Given the description of an element on the screen output the (x, y) to click on. 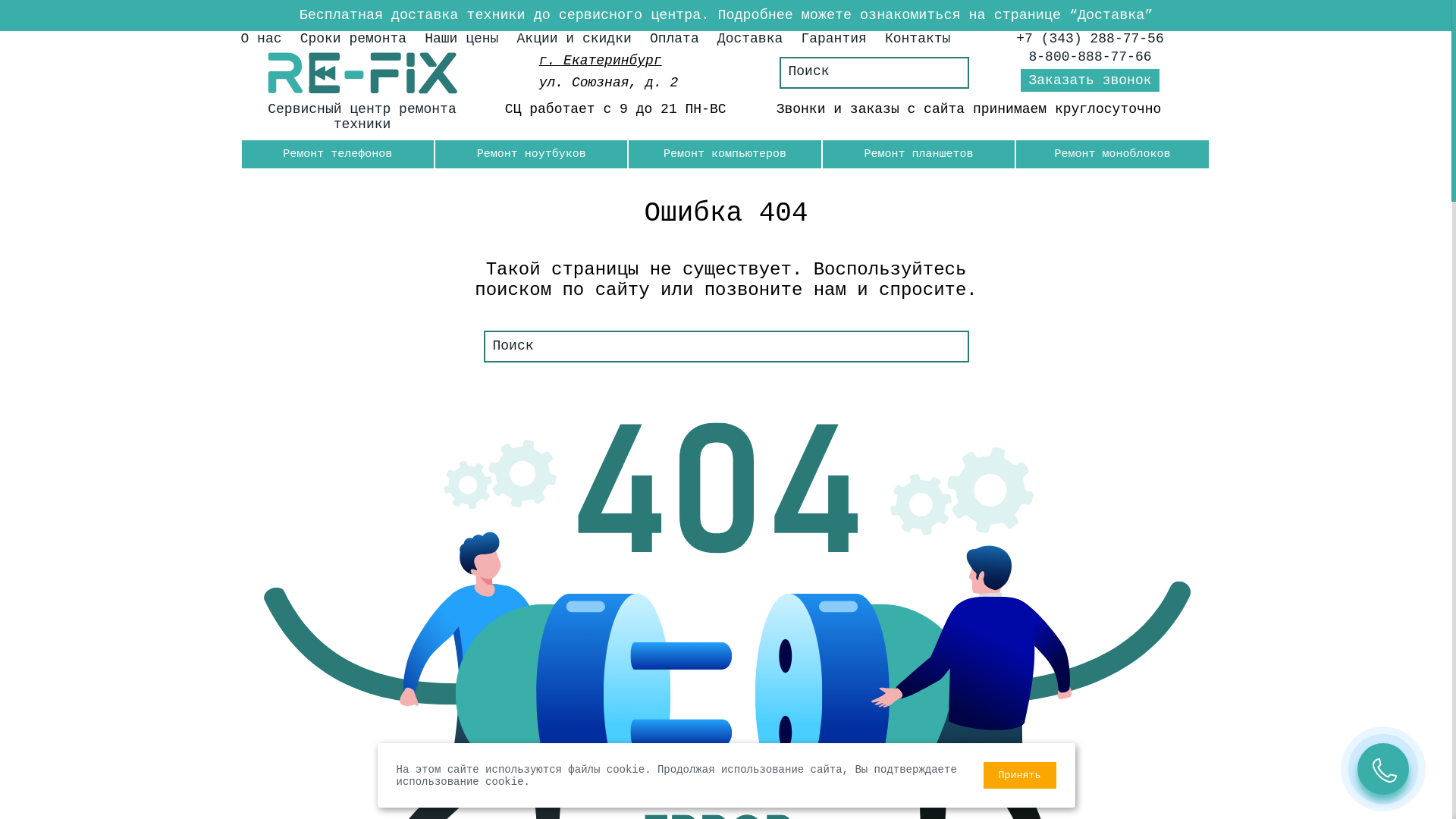
+7 (343) 288-77-56 Element type: text (1089, 38)
8-800-888-77-66 Element type: text (1090, 56)
